Given the description of an element on the screen output the (x, y) to click on. 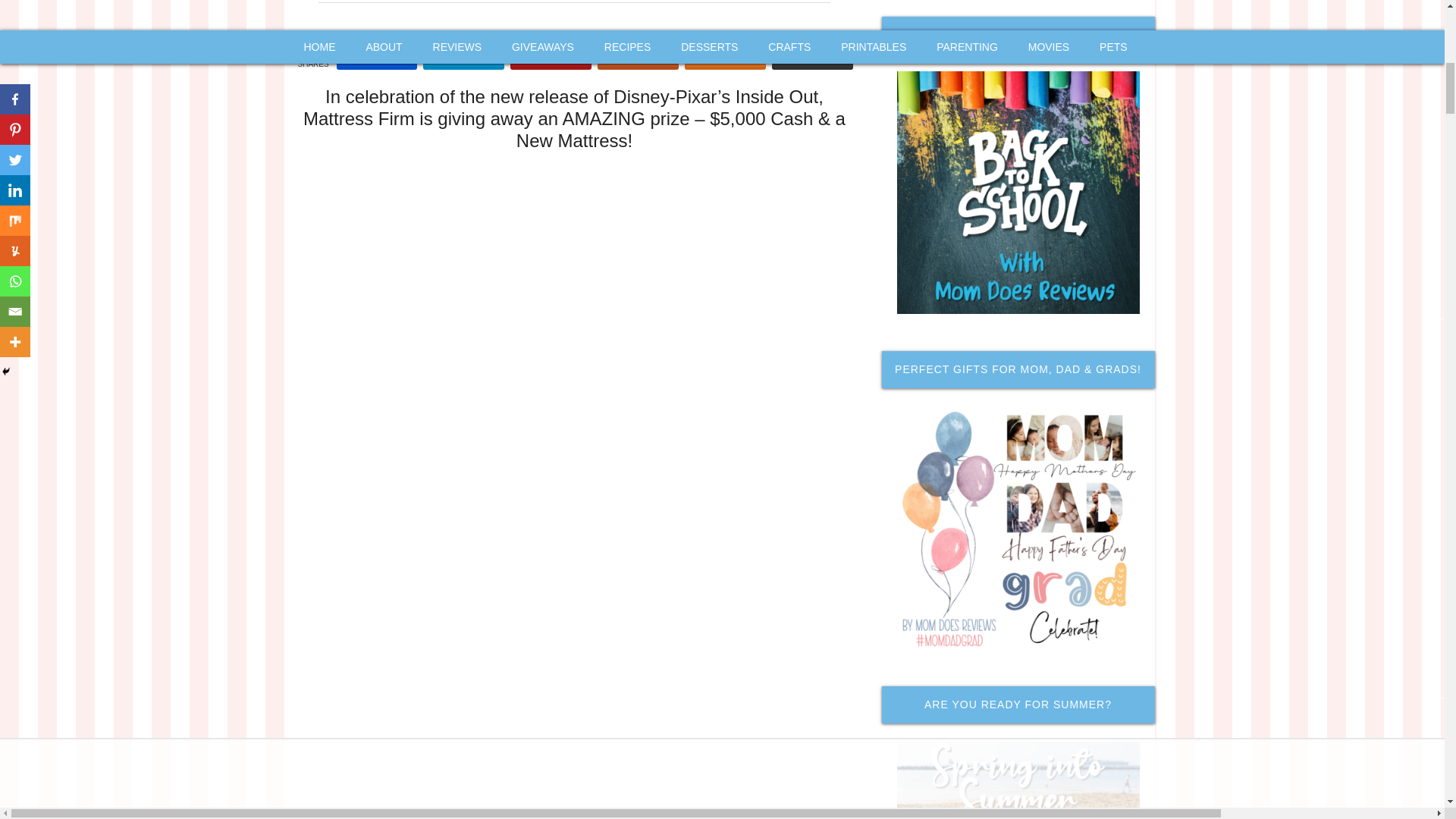
Share on Facebook (376, 56)
Facebook (376, 56)
